Given the description of an element on the screen output the (x, y) to click on. 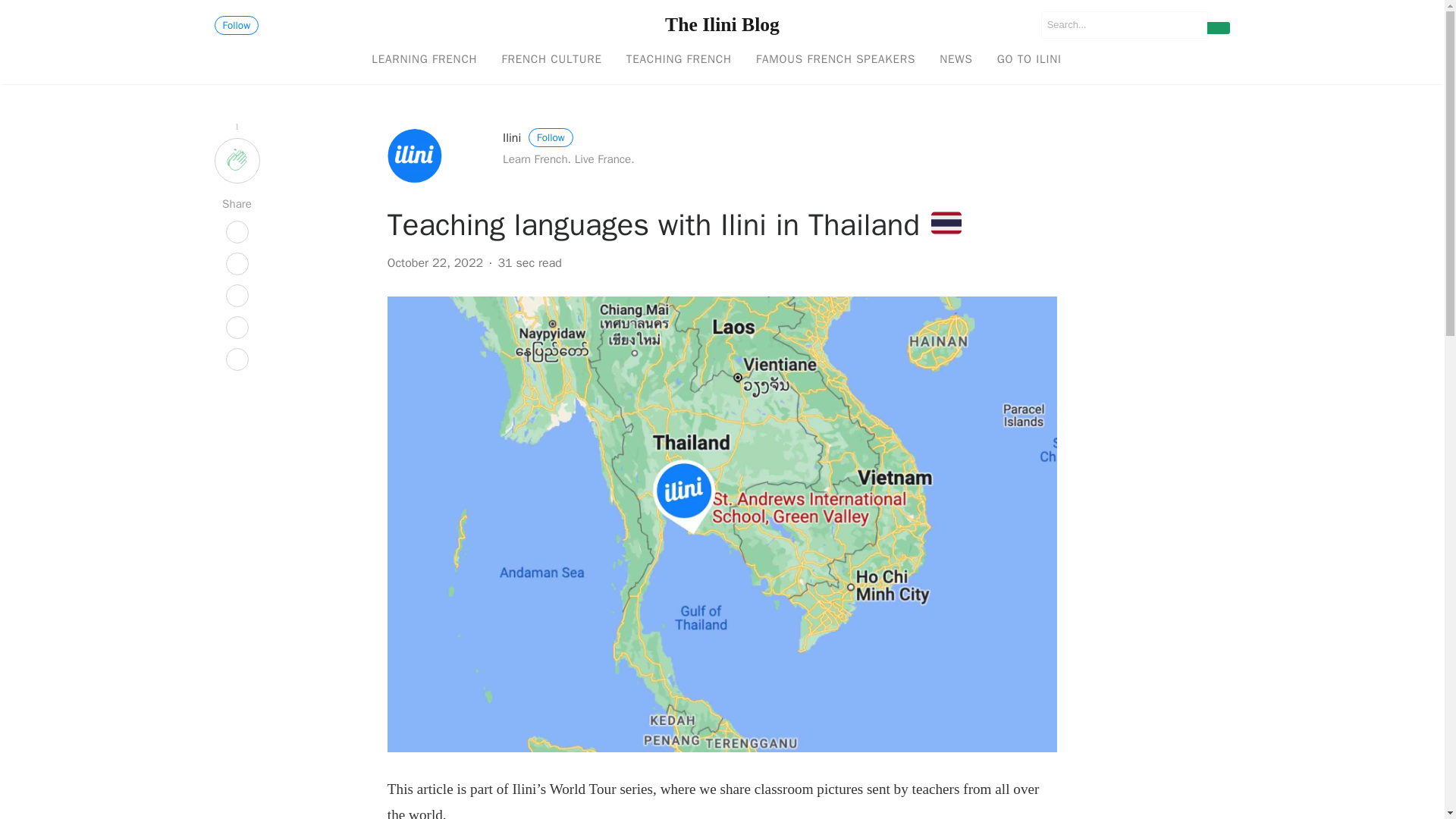
Search for: (1124, 24)
Ilini Follow (537, 137)
FRENCH CULTURE (550, 59)
NEWS (956, 59)
The Ilini Blog (721, 24)
Follow (236, 25)
FAMOUS FRENCH SPEAKERS (835, 59)
LEARNING FRENCH (424, 59)
GO TO ILINI (1029, 59)
TEACHING FRENCH (679, 59)
